Given the description of an element on the screen output the (x, y) to click on. 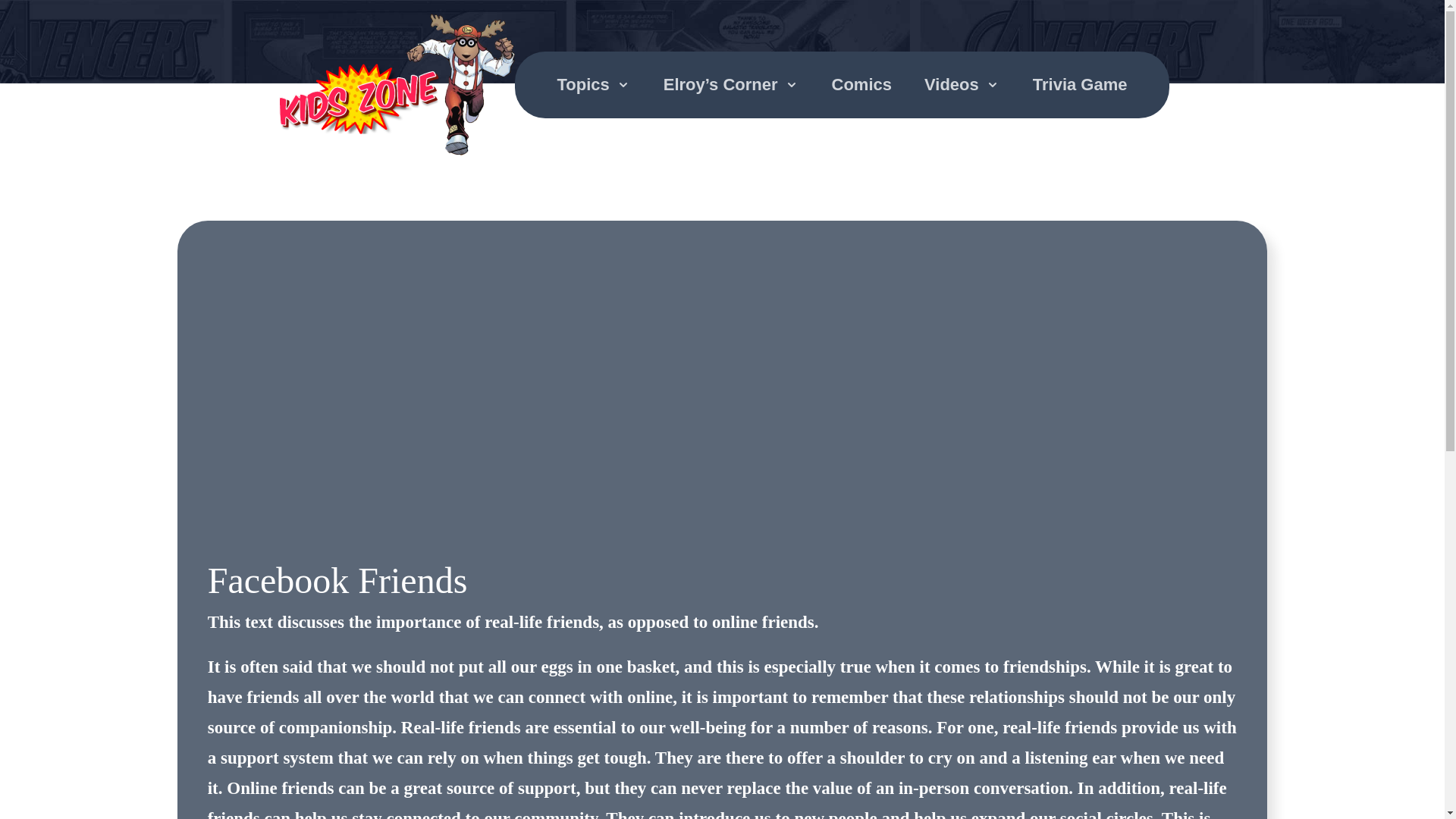
Trivia Game (1079, 84)
Comics (861, 84)
